Given the description of an element on the screen output the (x, y) to click on. 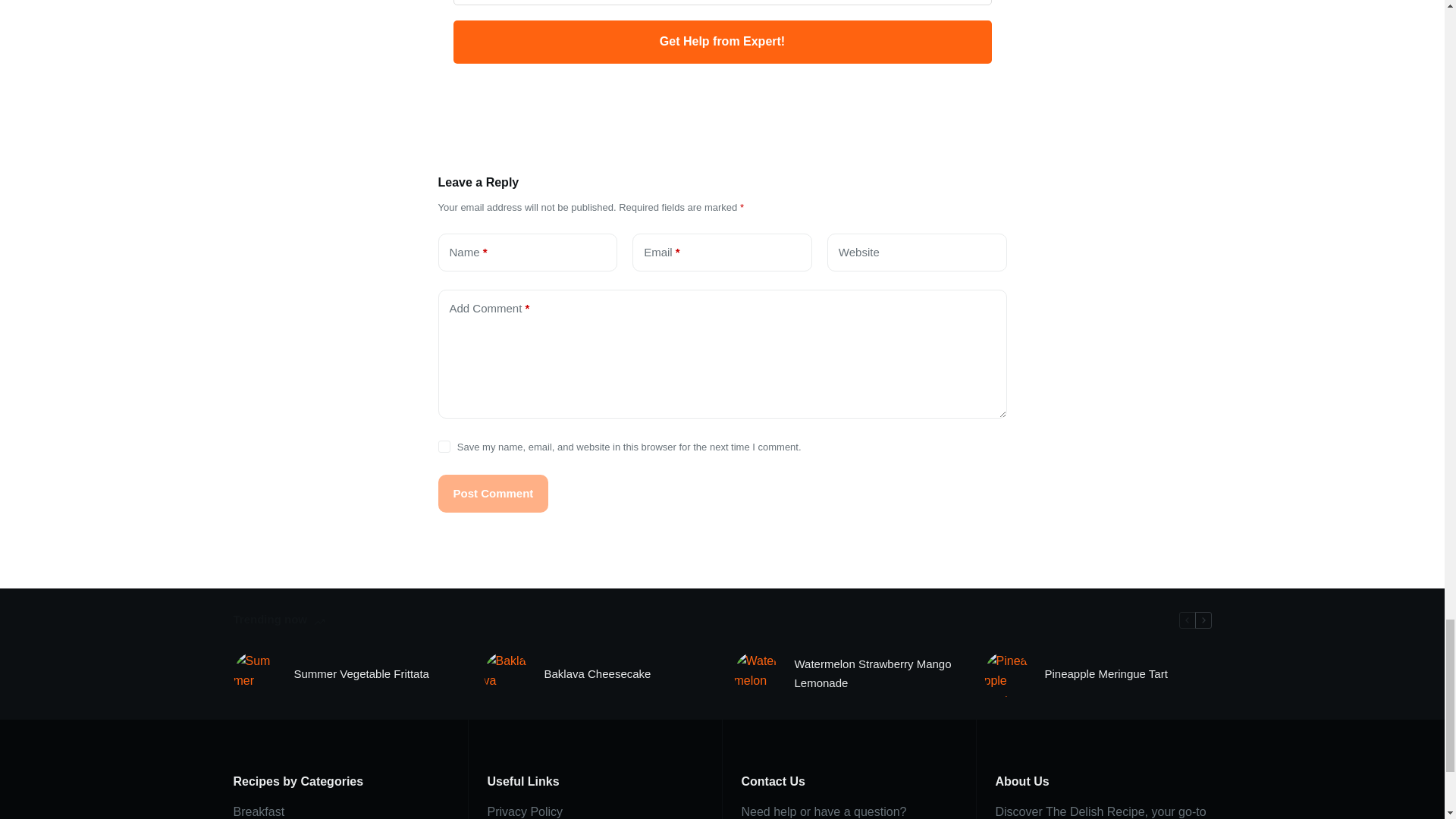
Get Help from Expert! (721, 41)
Pineapple Meringue Tart (1106, 674)
Summer Vegetable Frittata (361, 674)
yes (443, 446)
Watermelon Strawberry Mango Lemonade (877, 673)
Breakfast (258, 811)
Privacy Policy (524, 811)
Post Comment (493, 493)
Baklava Cheesecake (597, 674)
